Given the description of an element on the screen output the (x, y) to click on. 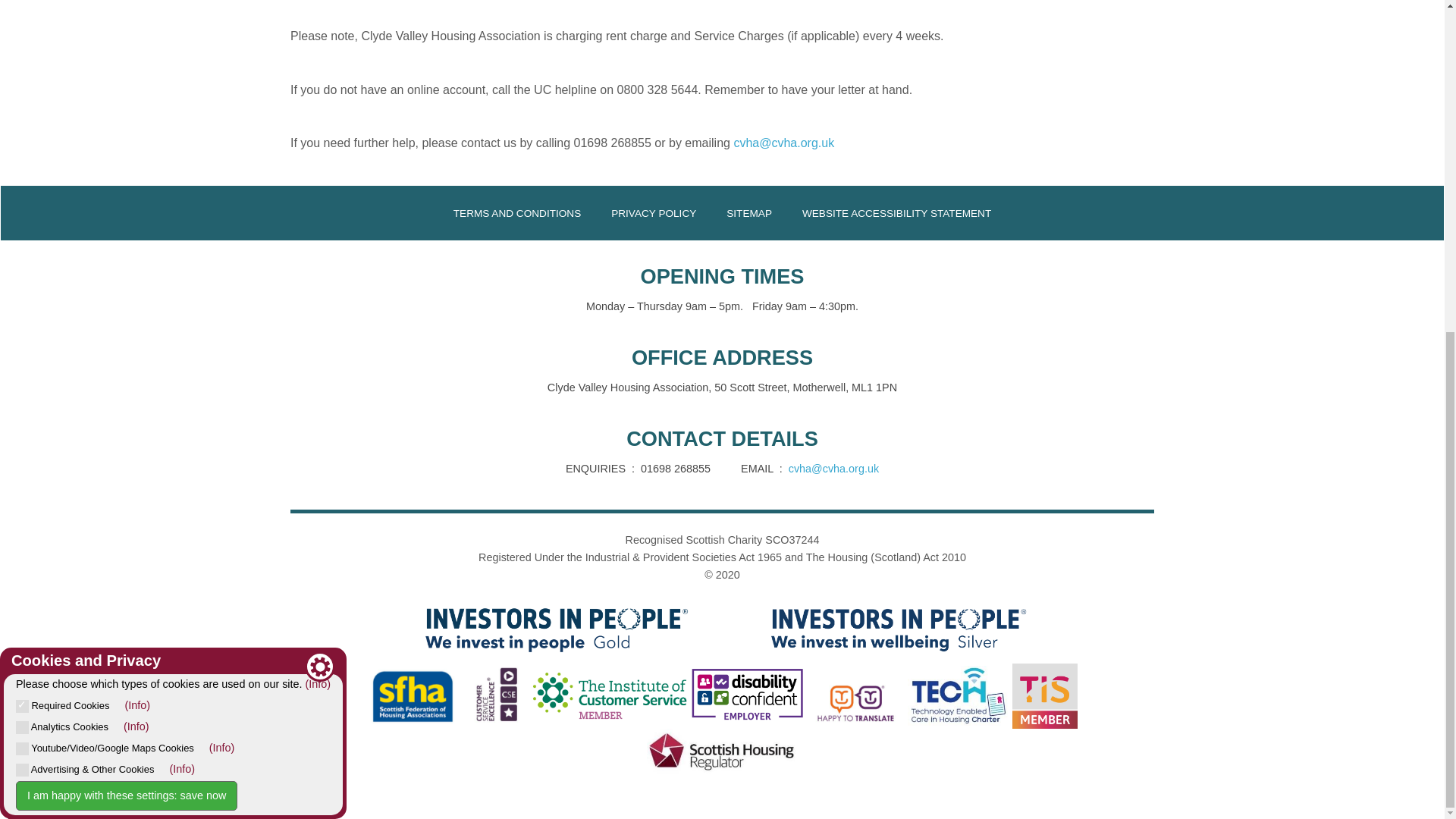
on (22, 153)
on (22, 195)
on (22, 174)
on (22, 216)
